Given the description of an element on the screen output the (x, y) to click on. 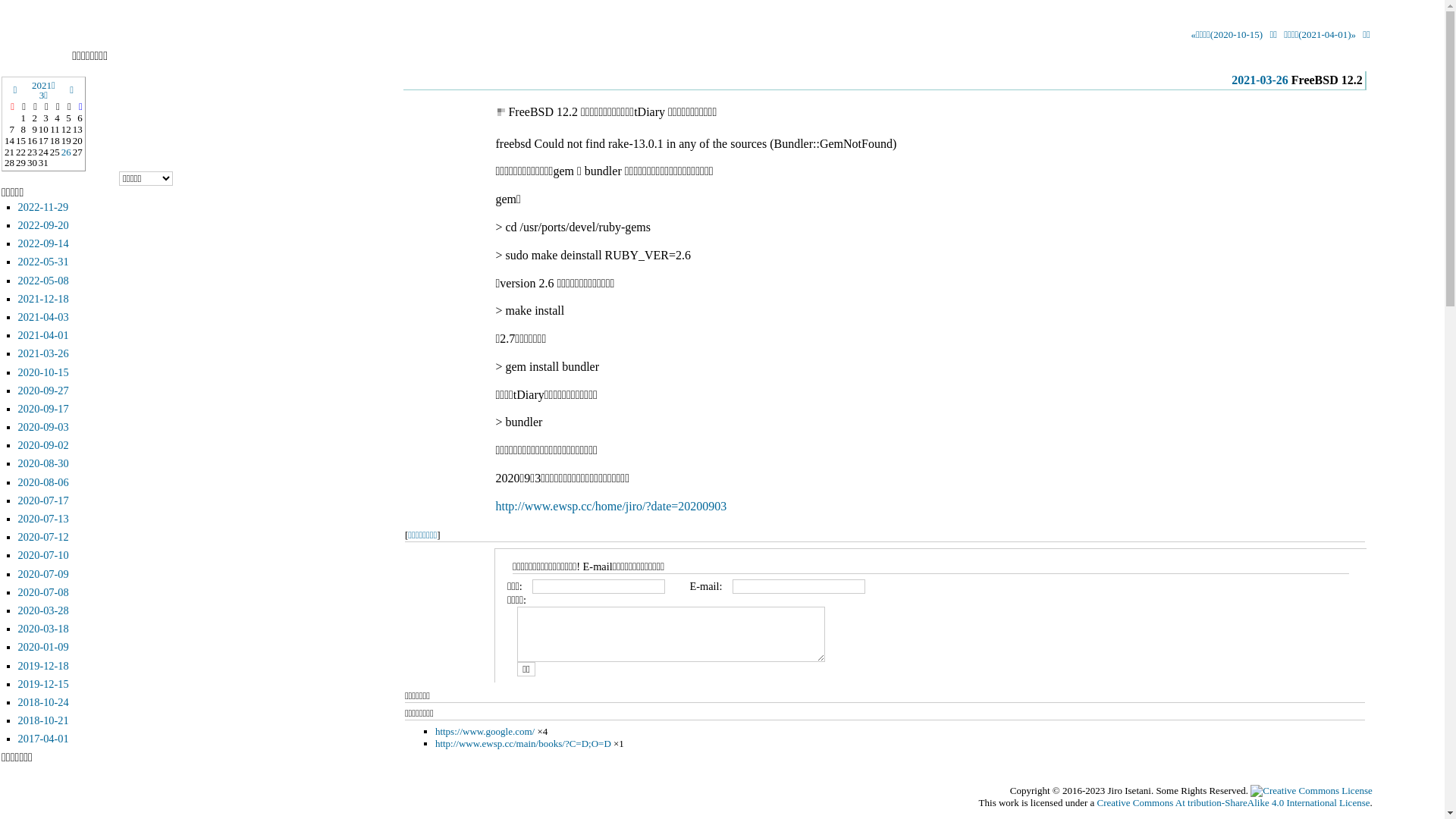
2022-09-20 Element type: text (43, 225)
2020-07-12 Element type: text (43, 536)
2022-09-14 Element type: text (43, 243)
2020-07-13 Element type: text (43, 518)
2019-12-15 Element type: text (43, 683)
2022-11-29 Element type: text (43, 206)
2021-04-01 Element type: text (43, 335)
http://www.ewsp.cc/main/books/?C=D;O=D Element type: text (523, 743)
2020-07-10 Element type: text (43, 555)
2020-08-30 Element type: text (43, 463)
2020-10-15 Element type: text (43, 372)
https://www.google.com/ Element type: text (484, 731)
26 Element type: text (66, 151)
2020-09-17 Element type: text (43, 408)
2021-03-26 Element type: text (43, 353)
2021-04-03 Element type: text (43, 316)
2018-10-24 Element type: text (43, 702)
2021-03-26 Element type: text (1259, 79)
2021-12-18 Element type: text (43, 298)
2020-08-06 Element type: text (43, 482)
2020-07-08 Element type: text (43, 592)
2020-03-18 Element type: text (43, 628)
2020-01-09 Element type: text (43, 646)
2019-12-18 Element type: text (43, 665)
http://www.ewsp.cc/home/jiro/?date=20200903 Element type: text (610, 505)
2020-09-02 Element type: text (43, 445)
2017-04-01 Element type: text (43, 738)
_ Element type: text (500, 111)
2022-05-08 Element type: text (43, 280)
2018-10-21 Element type: text (43, 720)
2020-09-27 Element type: text (43, 390)
2020-07-09 Element type: text (43, 573)
2020-07-17 Element type: text (43, 500)
2020-09-03 Element type: text (43, 426)
2022-05-31 Element type: text (43, 261)
2020-03-28 Element type: text (43, 610)
